Given the description of an element on the screen output the (x, y) to click on. 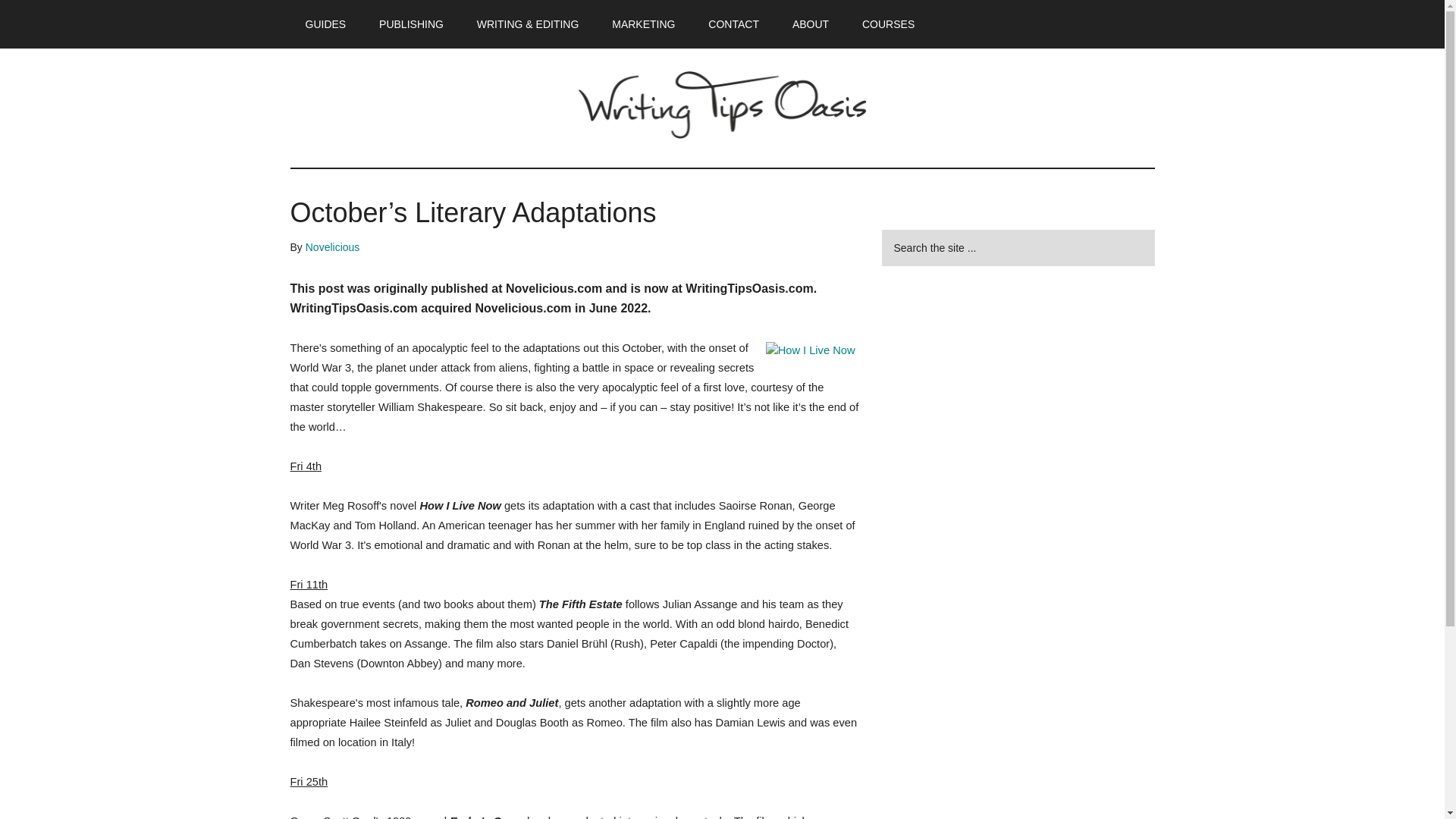
MARKETING (643, 24)
ABOUT (810, 24)
PUBLISHING (411, 24)
GUIDES (325, 24)
COURSES (888, 24)
Novelicious (332, 246)
CONTACT (733, 24)
How I Live Now (810, 350)
